Given the description of an element on the screen output the (x, y) to click on. 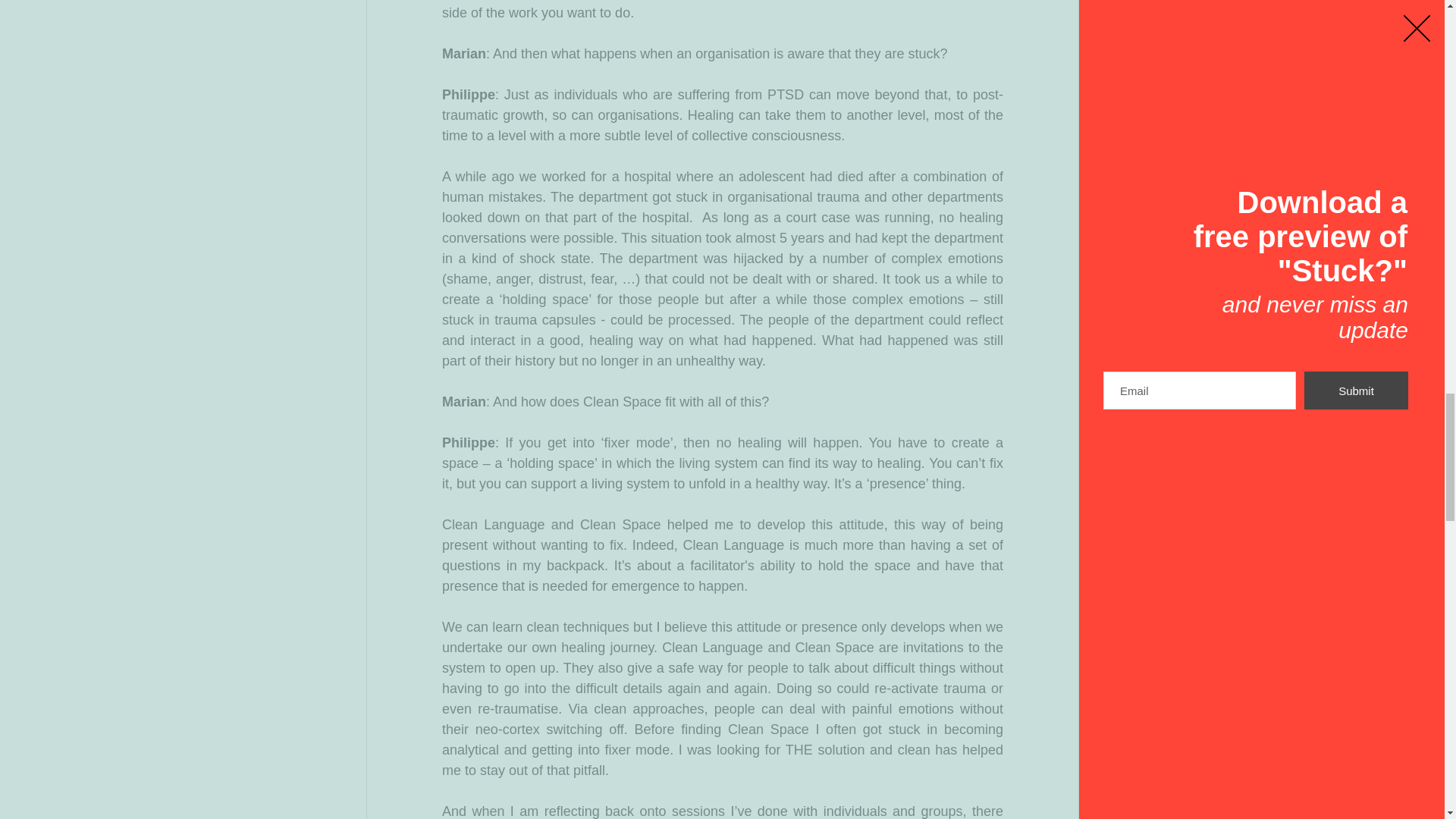
Clean Language and Clean Space (551, 524)
